Given the description of an element on the screen output the (x, y) to click on. 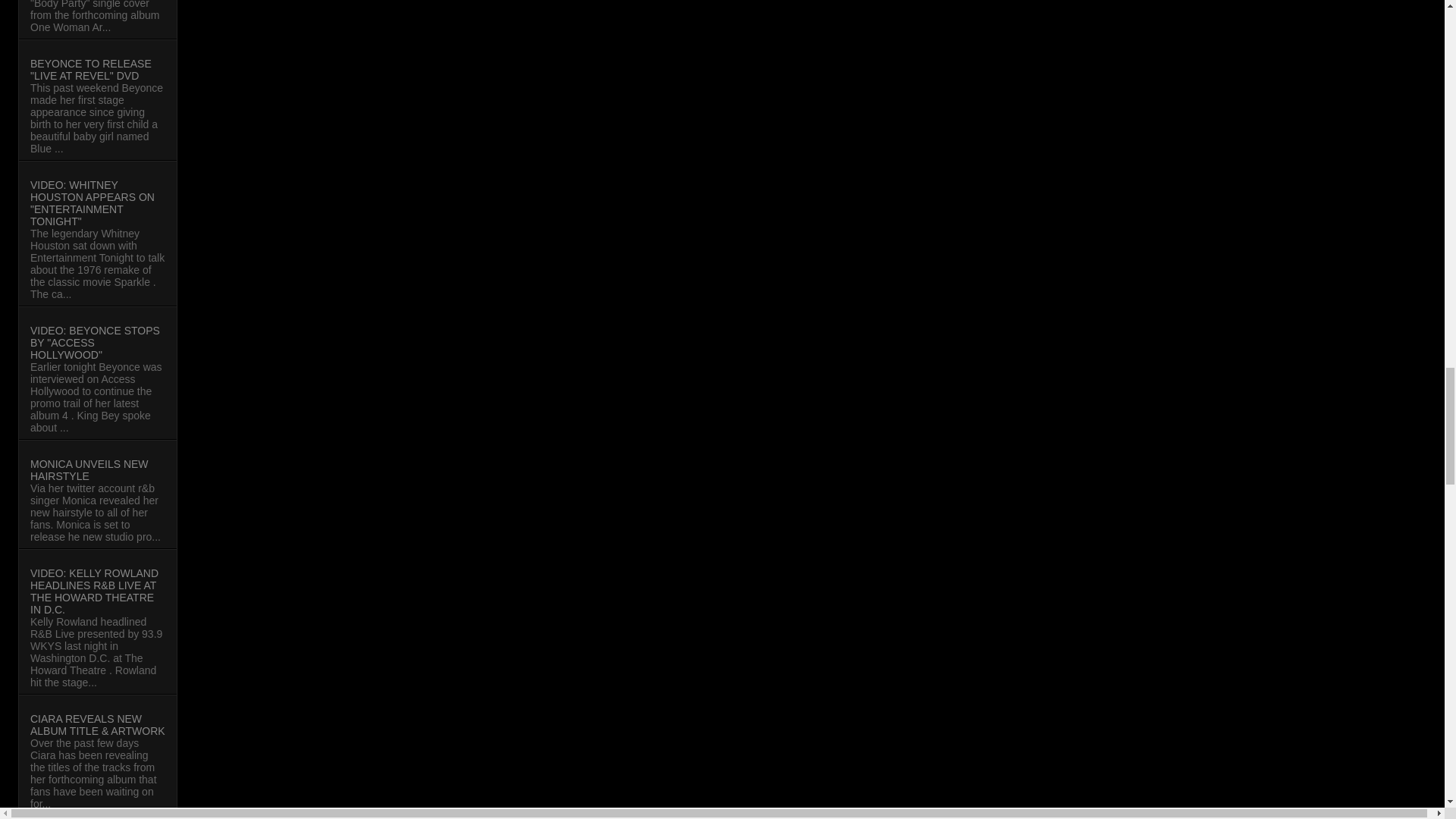
VIDEO: WHITNEY HOUSTON APPEARS ON "ENTERTAINMENT TONIGHT" (92, 203)
BEYONCE TO RELEASE "LIVE AT REVEL" DVD (90, 69)
VIDEO: BEYONCE STOPS BY "ACCESS HOLLYWOOD" (95, 342)
